Given the description of an element on the screen output the (x, y) to click on. 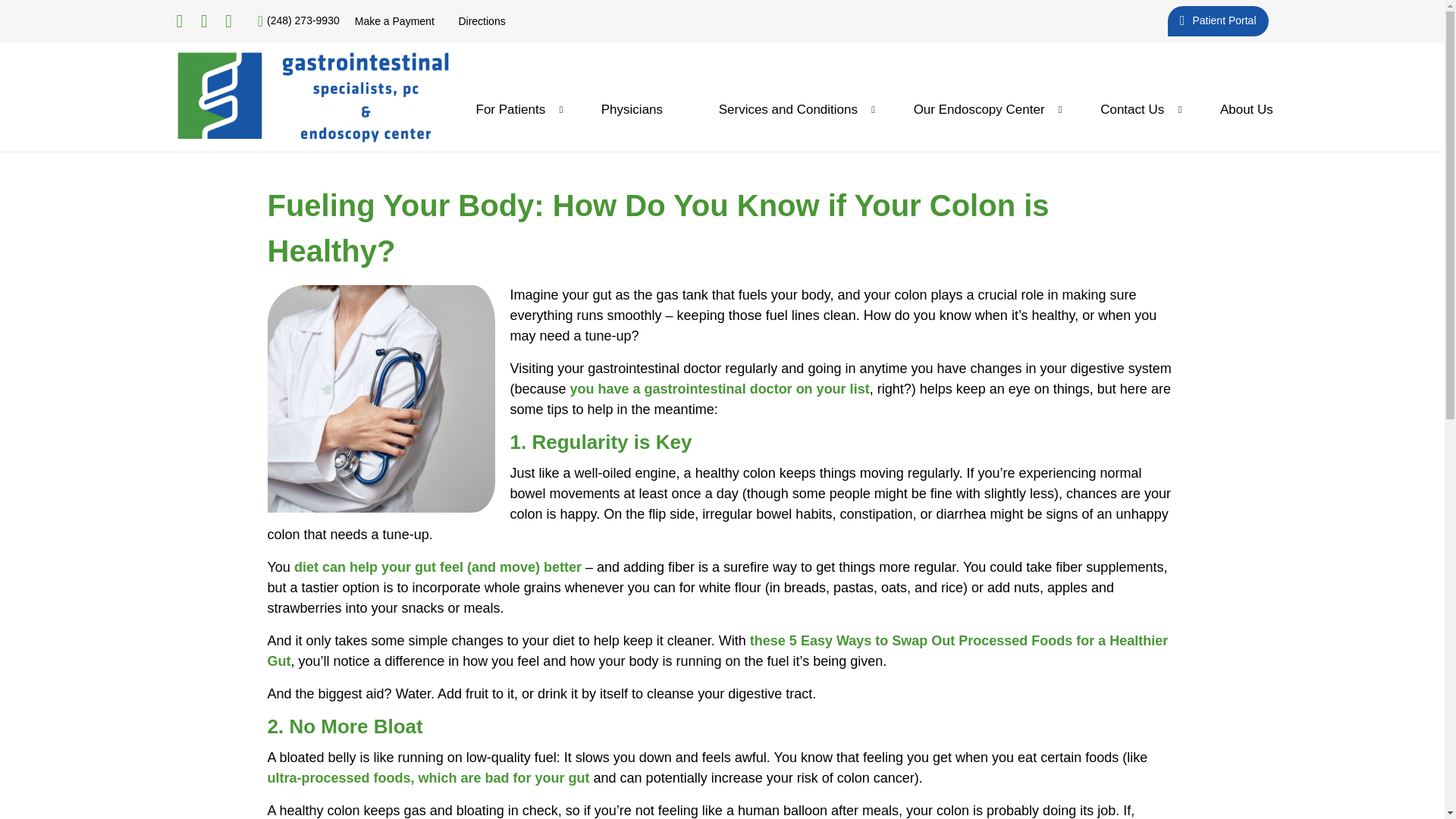
Services and Conditions (788, 109)
Contact Us (1131, 109)
Patient Portal (1217, 20)
For Patients (511, 109)
Directions (481, 21)
About Us (1246, 109)
Make a Payment (394, 21)
Our Endoscopy Center (979, 109)
Gastrointestinal Specialists (312, 96)
you have a gastrointestinal doctor on your list (719, 388)
ultra-processed foods, which are bad for your gut (427, 777)
Physicians (631, 109)
